Given the description of an element on the screen output the (x, y) to click on. 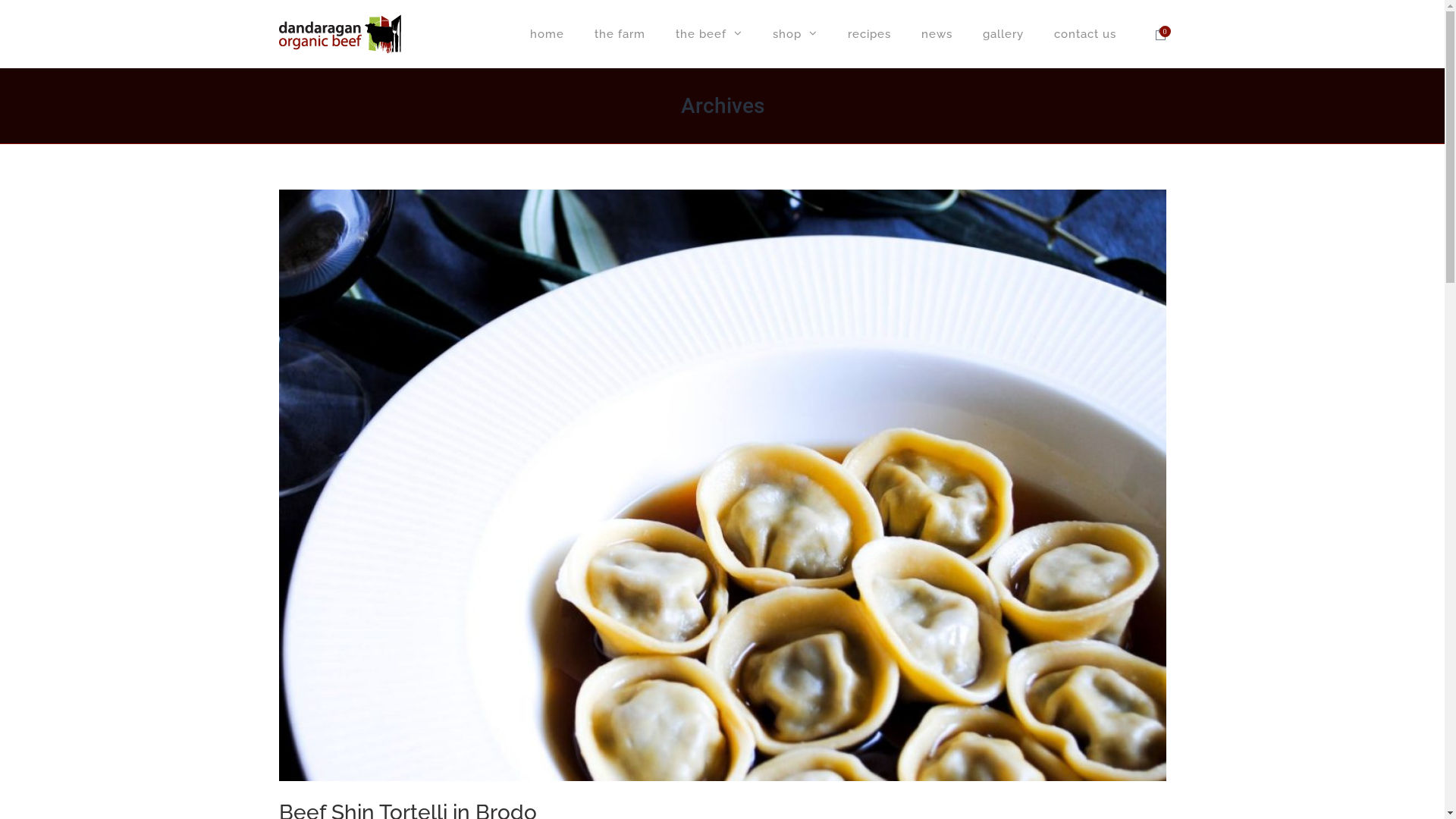
home Element type: text (546, 34)
contact us Element type: text (1077, 34)
shop Element type: text (793, 34)
news Element type: text (935, 34)
the beef Element type: text (707, 34)
Archives Element type: text (722, 105)
Dandaragan Organic Beef Element type: hover (340, 33)
gallery Element type: text (1002, 34)
the farm Element type: text (619, 34)
0 Element type: text (1160, 34)
recipes Element type: text (869, 34)
